Given the description of an element on the screen output the (x, y) to click on. 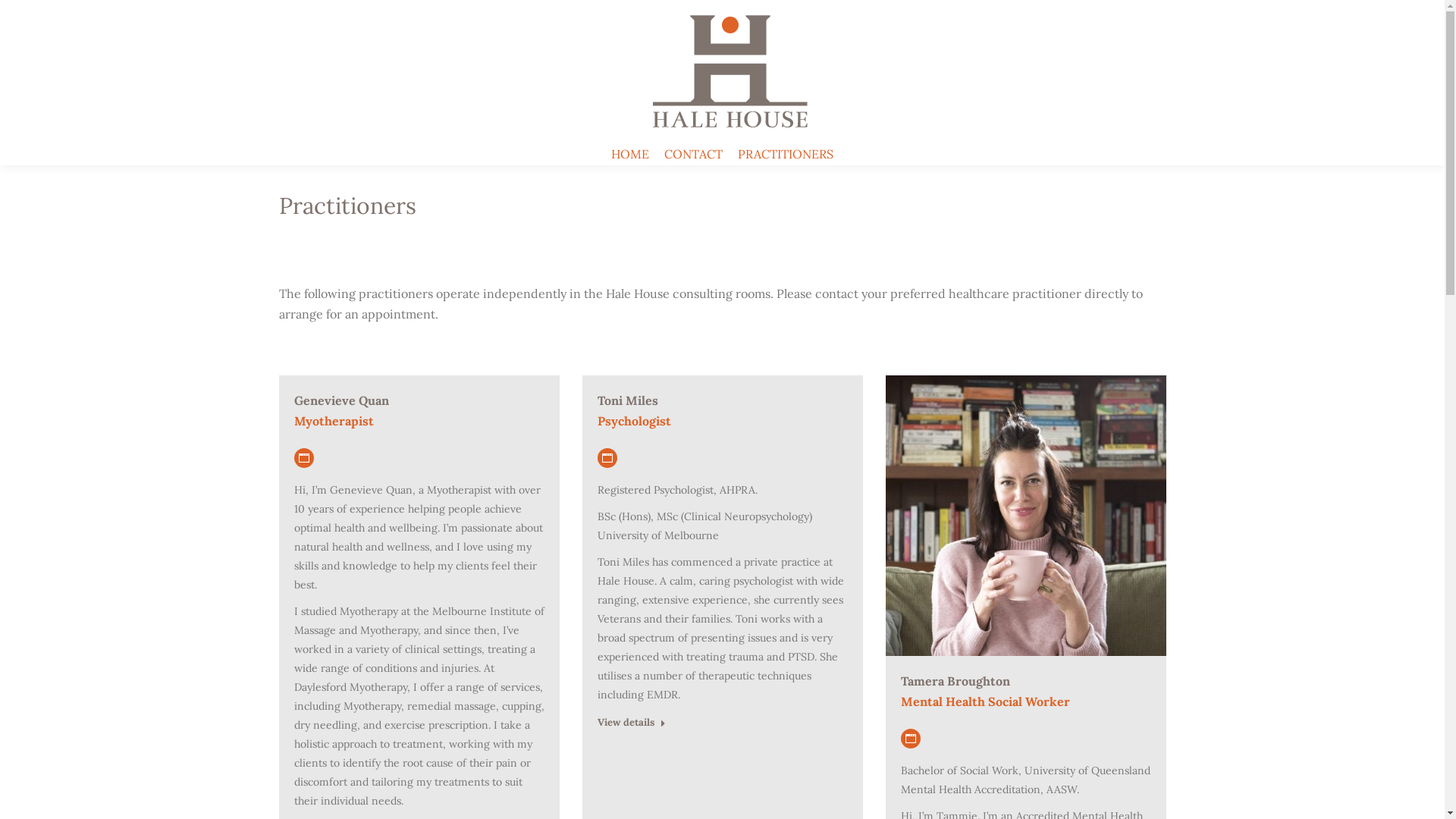
Genevieve Quan Element type: text (341, 399)
Personal blog / website Element type: text (910, 738)
CONTACT Element type: text (693, 153)
Tamera Broughton Element type: text (955, 680)
Personal blog / website Element type: text (607, 457)
HOME Element type: text (629, 153)
PRACTITIONERS Element type: text (785, 153)
Personal blog / website Element type: text (303, 457)
Tammie photo Element type: hover (1025, 515)
Toni Miles Element type: text (627, 399)
View details Element type: text (631, 724)
